Given the description of an element on the screen output the (x, y) to click on. 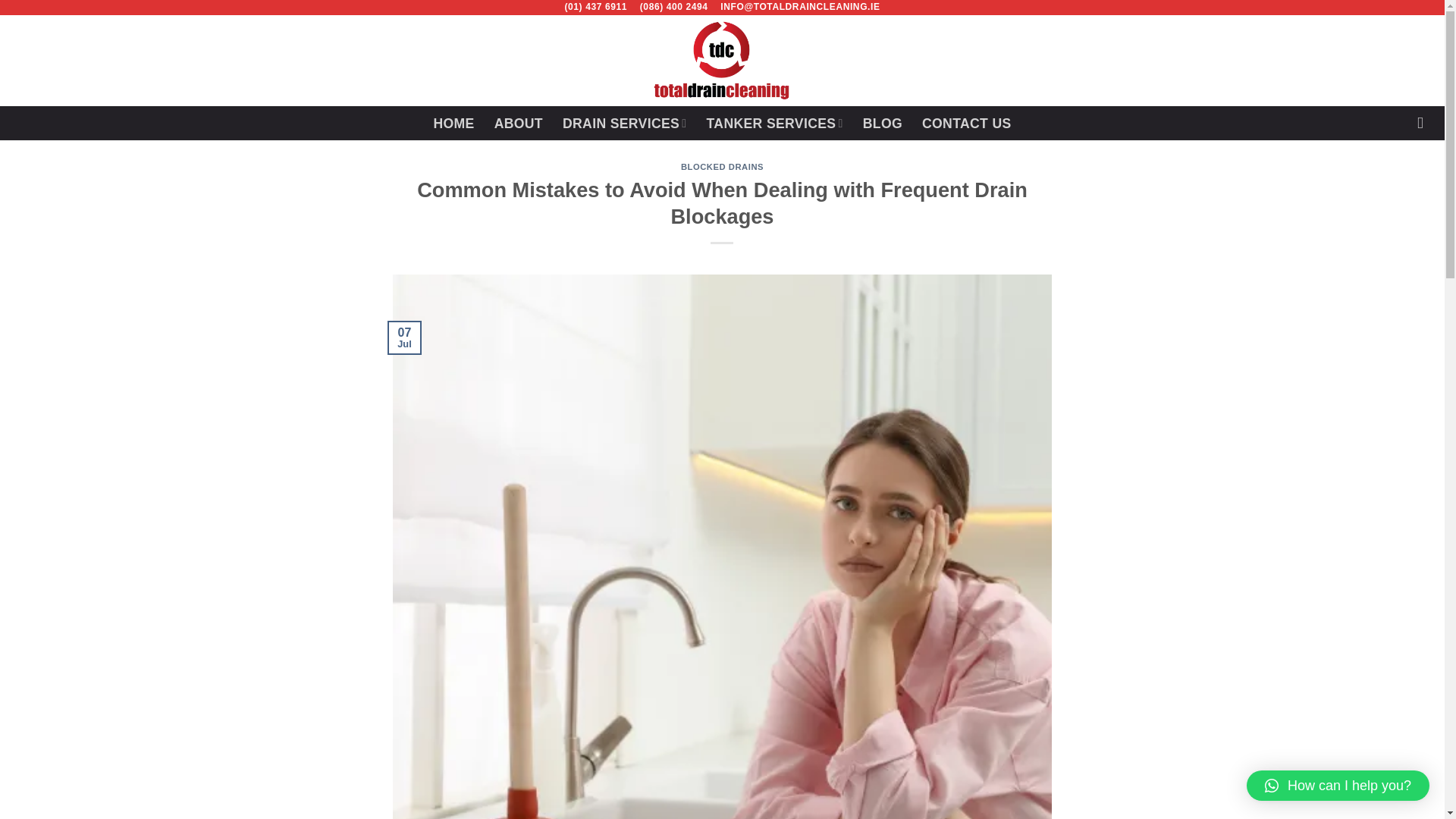
BLOCKED DRAINS (721, 166)
CONTACT US (966, 123)
DRAIN SERVICES (624, 123)
HOME (453, 123)
ABOUT (519, 123)
Total Drain Cleaning - Emergency Drain Unblocking Dublin (721, 60)
BLOG (882, 123)
TANKER SERVICES (774, 123)
